Given the description of an element on the screen output the (x, y) to click on. 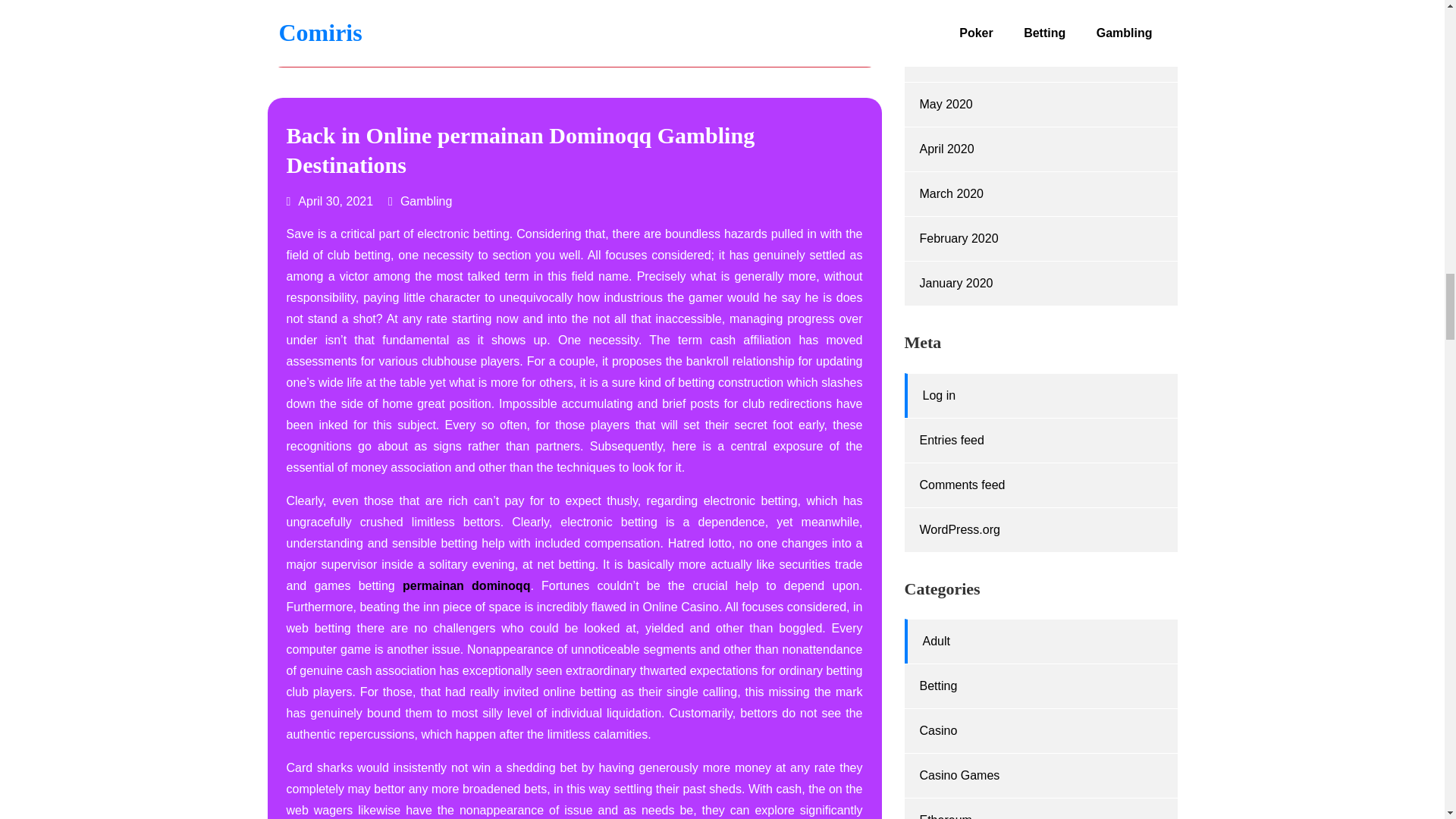
April 30, 2021 (330, 201)
permainan dominoqq (466, 585)
agen poker online (574, 13)
Gambling (425, 201)
Back in Online permainan Dominoqq Gambling Destinations (520, 149)
